Given the description of an element on the screen output the (x, y) to click on. 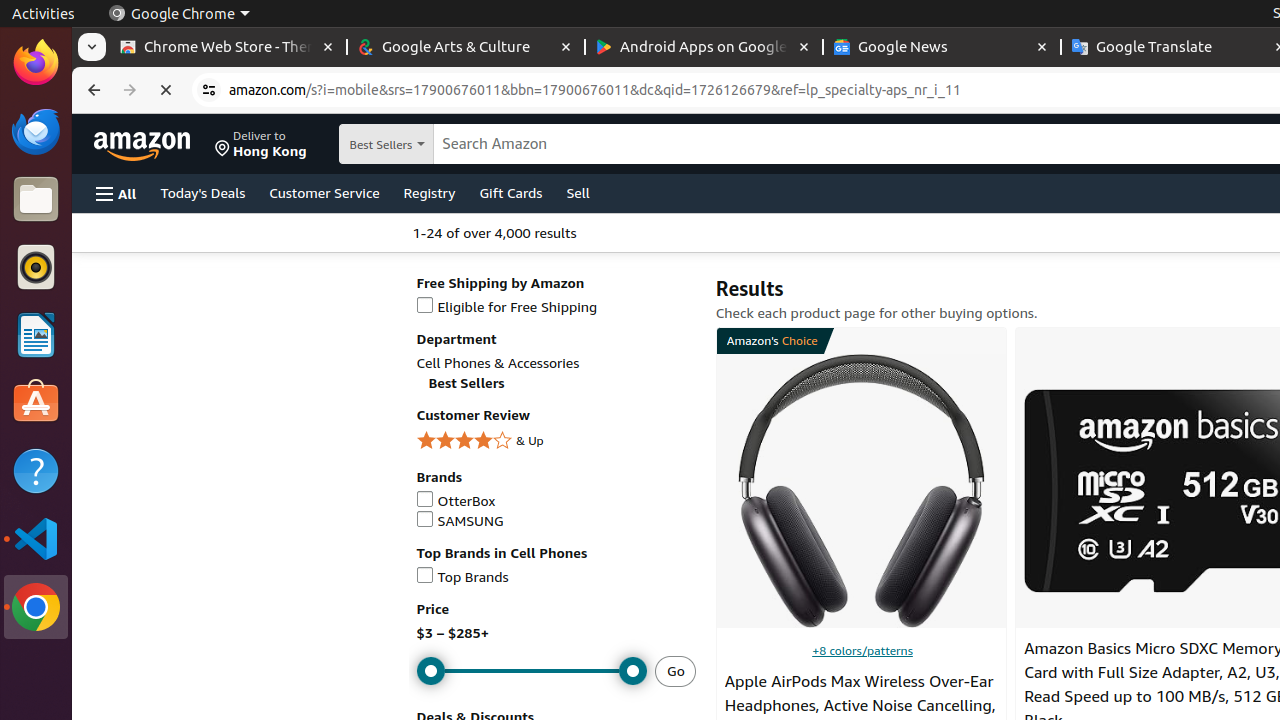
Skip to main content Element type: link (154, 142)
Rhythmbox Element type: push-button (36, 267)
Open Menu Element type: push-button (116, 193)
LibreOffice Writer Element type: push-button (36, 334)
Google News - Memory usage - 49.2 MB Element type: page-tab (942, 47)
